Given the description of an element on the screen output the (x, y) to click on. 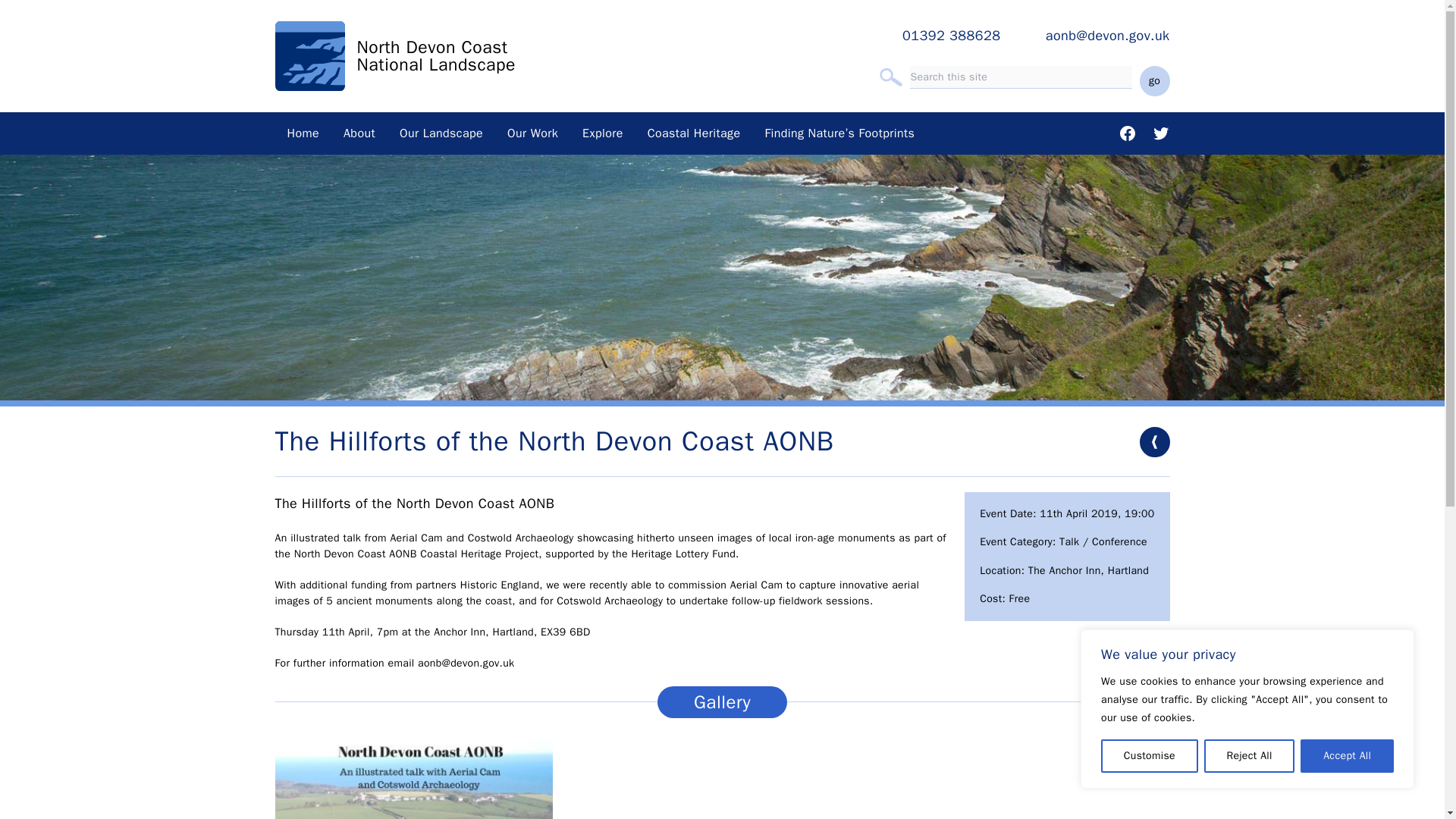
Our Work (532, 133)
Home (303, 133)
North Devon Coast (431, 47)
Our Landscape (441, 133)
About (359, 133)
Customise (1149, 756)
go (1153, 81)
Accept All (1346, 756)
Reject All (1249, 756)
